Given the description of an element on the screen output the (x, y) to click on. 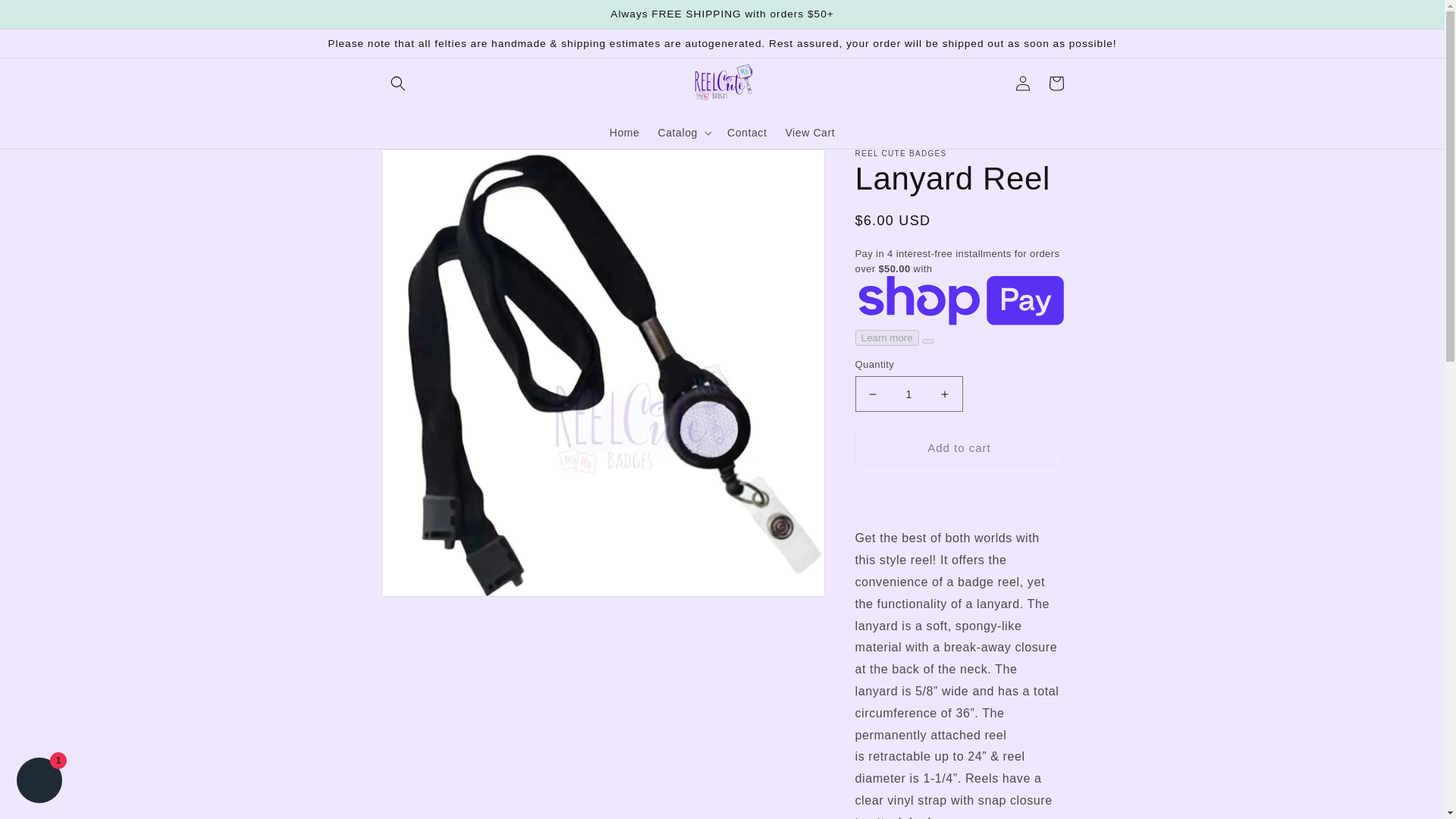
Home (624, 132)
Skip to content (45, 16)
Shopify online store chat (38, 781)
1 (908, 393)
